Given the description of an element on the screen output the (x, y) to click on. 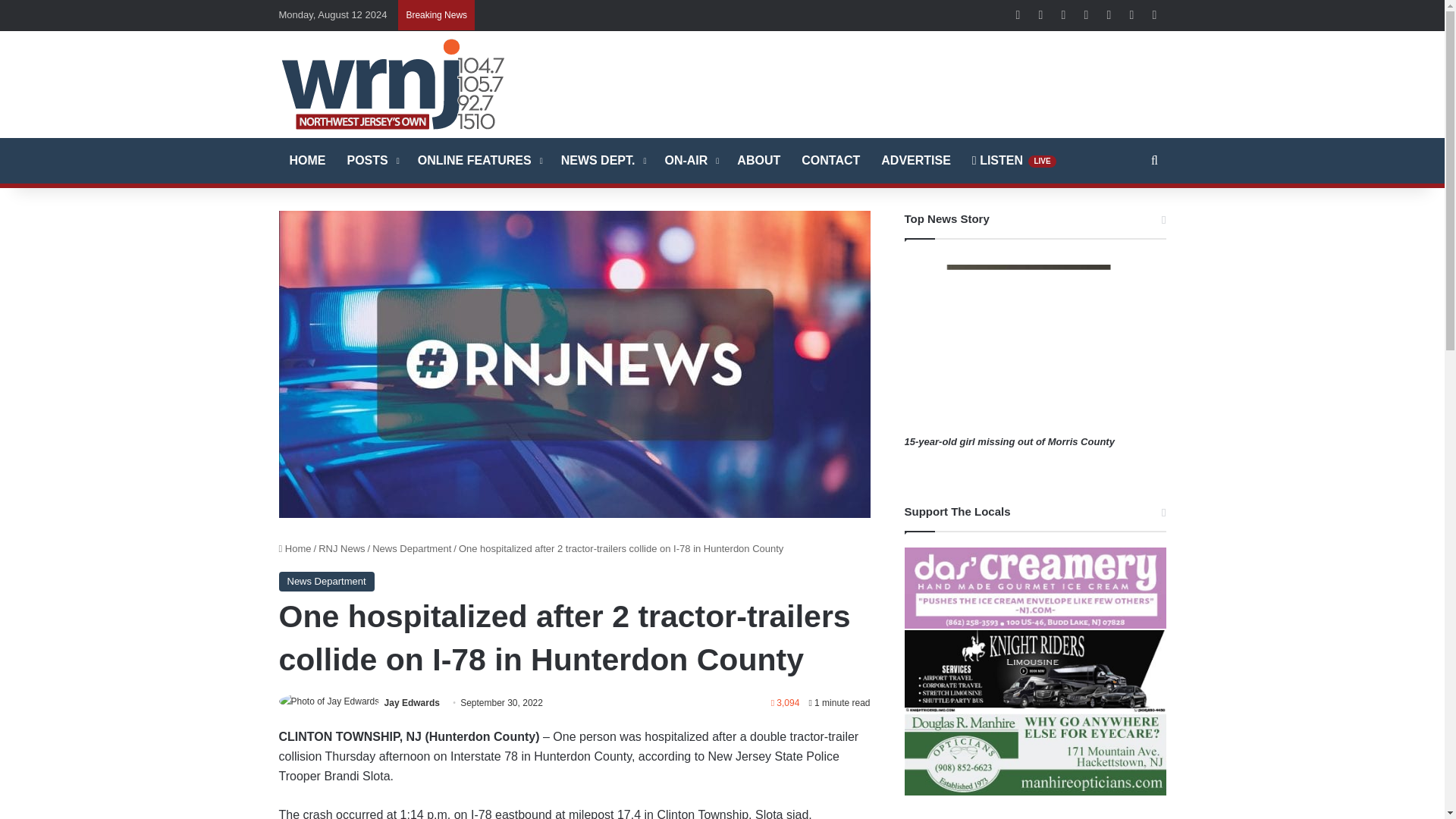
WRNJ Radio (392, 83)
ON-AIR (689, 160)
POSTS (371, 160)
HOME (307, 160)
Knight Riders Limo (1035, 670)
NEWS DEPT. (601, 160)
ABOUT (758, 160)
Jay Edwards (411, 702)
ONLINE FEATURES (478, 160)
